Given the description of an element on the screen output the (x, y) to click on. 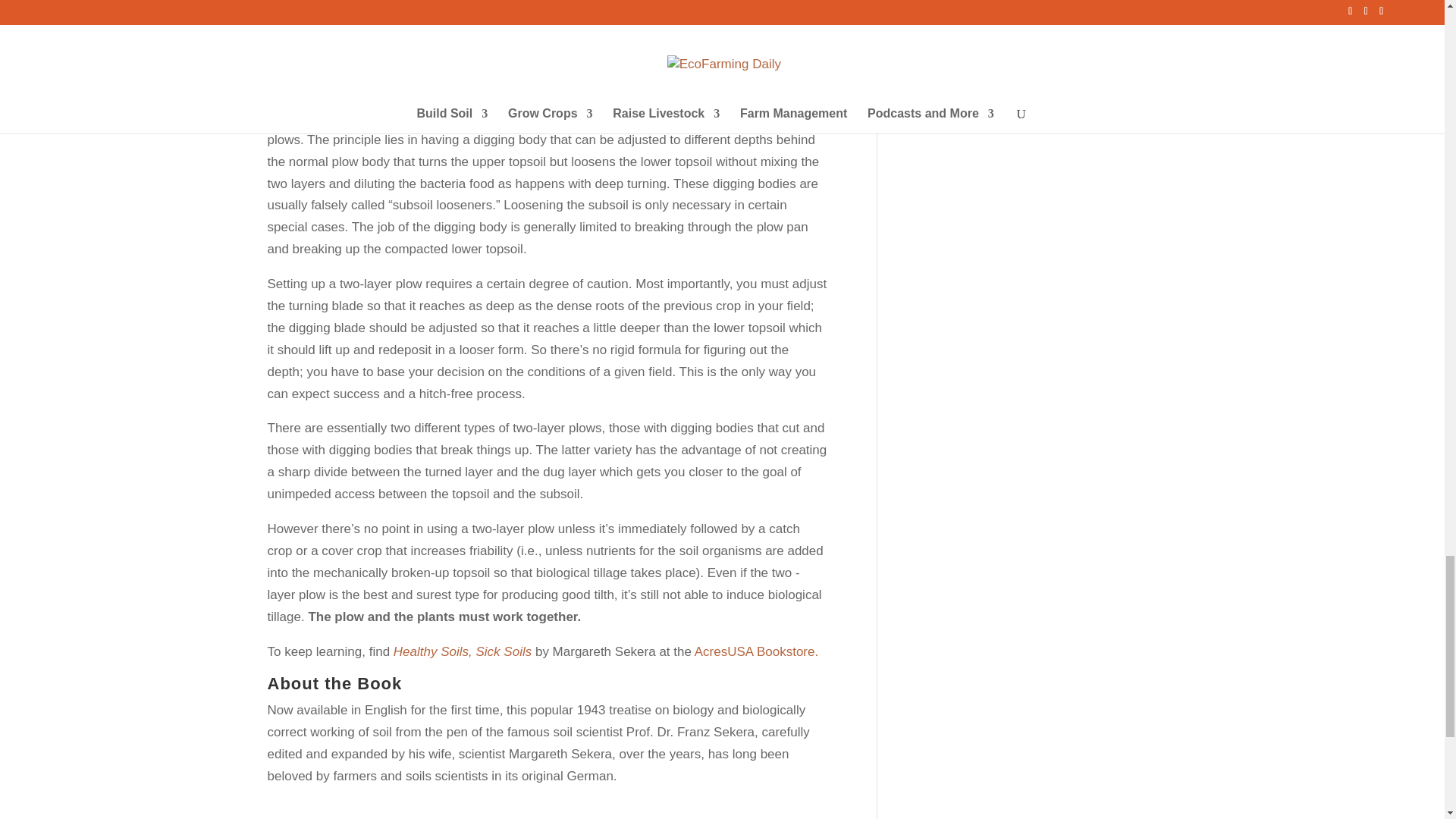
Healthy Soils, Sick Soils (462, 651)
AcresUSA Bookstore. (756, 651)
